Given the description of an element on the screen output the (x, y) to click on. 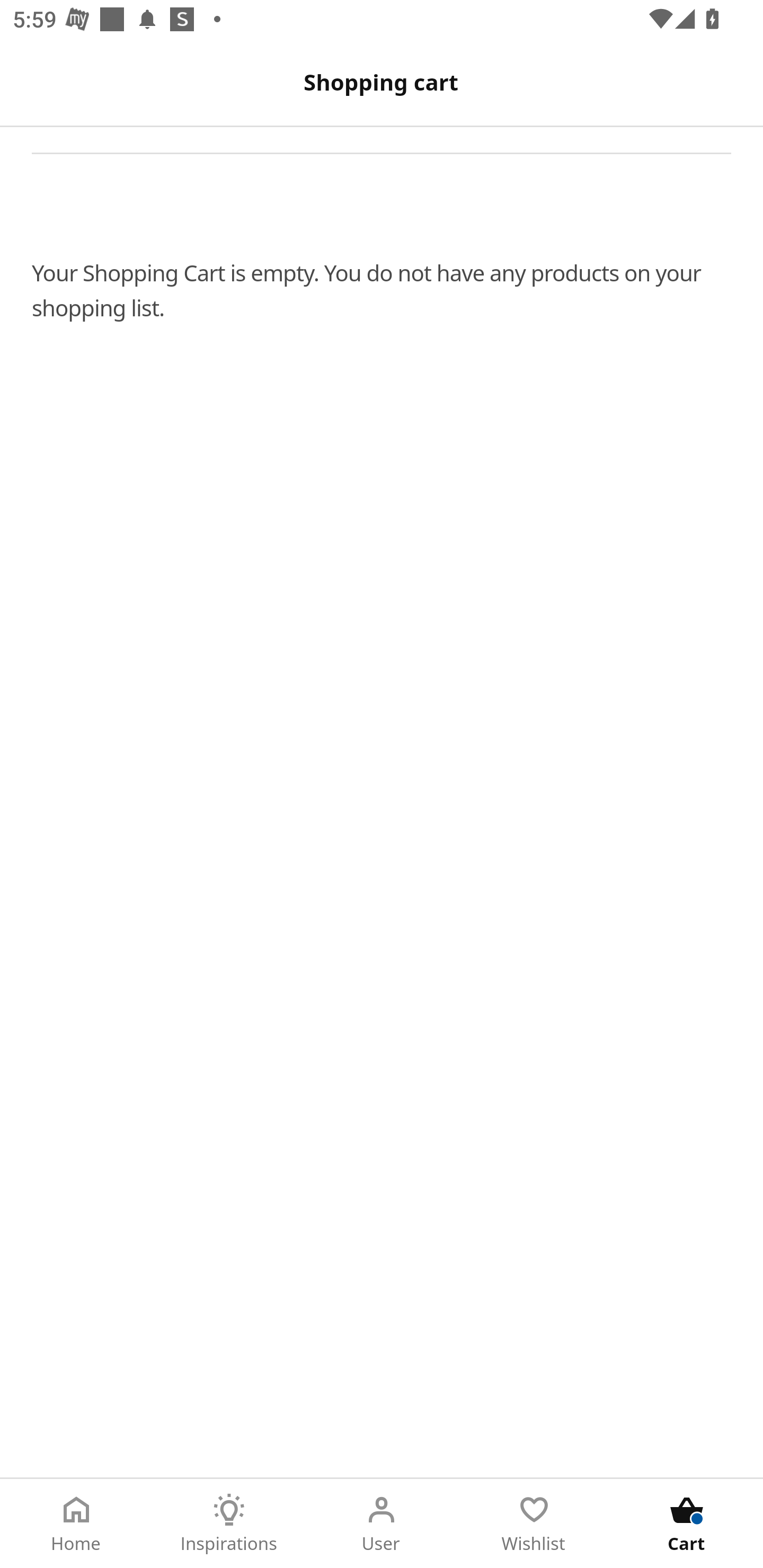
Home
Tab 1 of 5 (76, 1522)
Inspirations
Tab 2 of 5 (228, 1522)
User
Tab 3 of 5 (381, 1522)
Wishlist
Tab 4 of 5 (533, 1522)
Cart
Tab 5 of 5 (686, 1522)
